Given the description of an element on the screen output the (x, y) to click on. 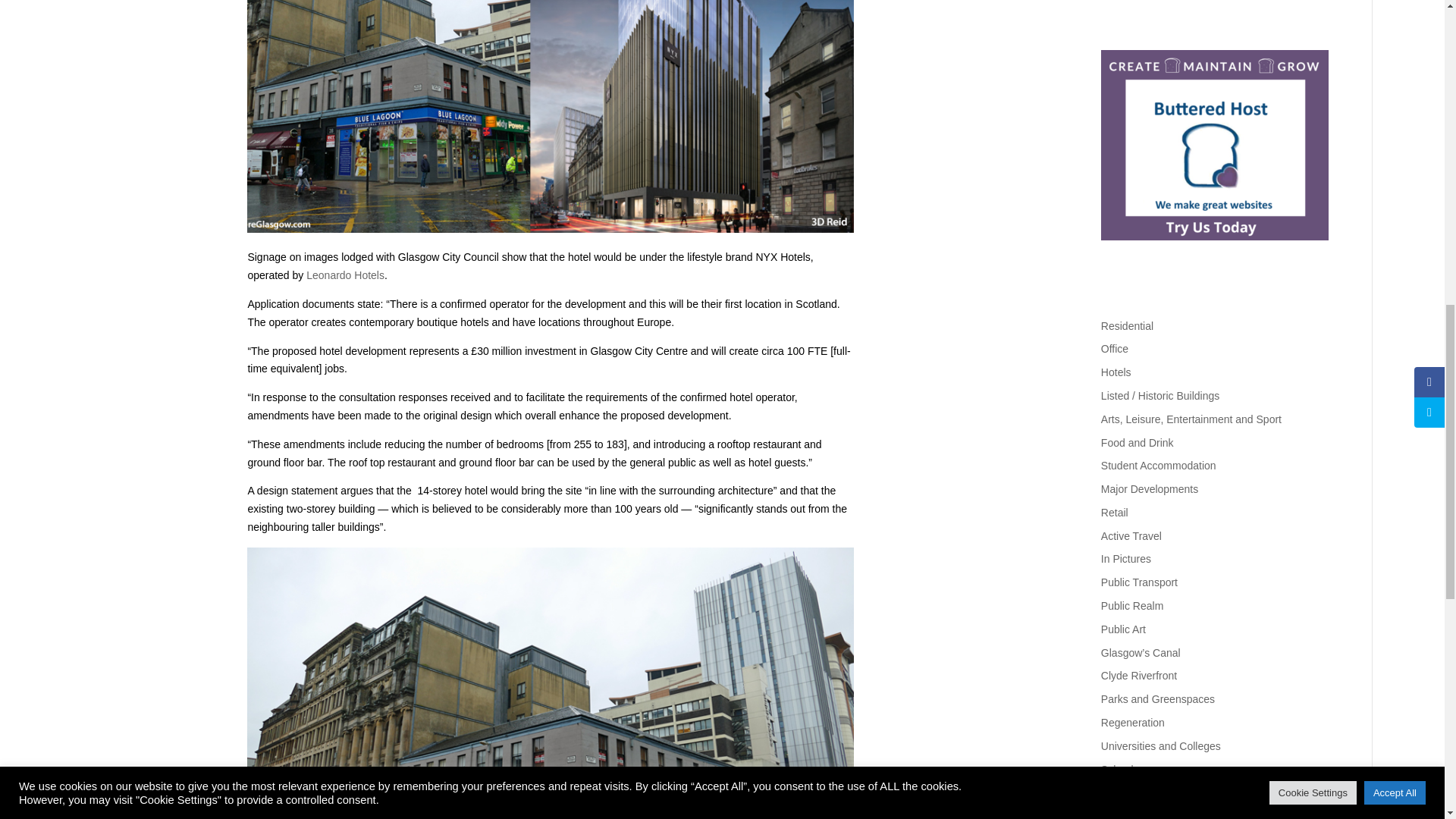
Hotels (1115, 372)
Universities and Colleges (1160, 746)
Residential (1126, 326)
Churches (1123, 792)
Major Developments (1149, 489)
Public Art (1122, 629)
Office (1114, 348)
In Pictures (1125, 558)
Student Accommodation (1157, 465)
Parks and Greenspaces (1157, 698)
Food and Drink (1136, 442)
Schools (1119, 769)
Clyde Riverfront (1138, 675)
Leonardo Hotels (344, 275)
Retail (1114, 512)
